Given the description of an element on the screen output the (x, y) to click on. 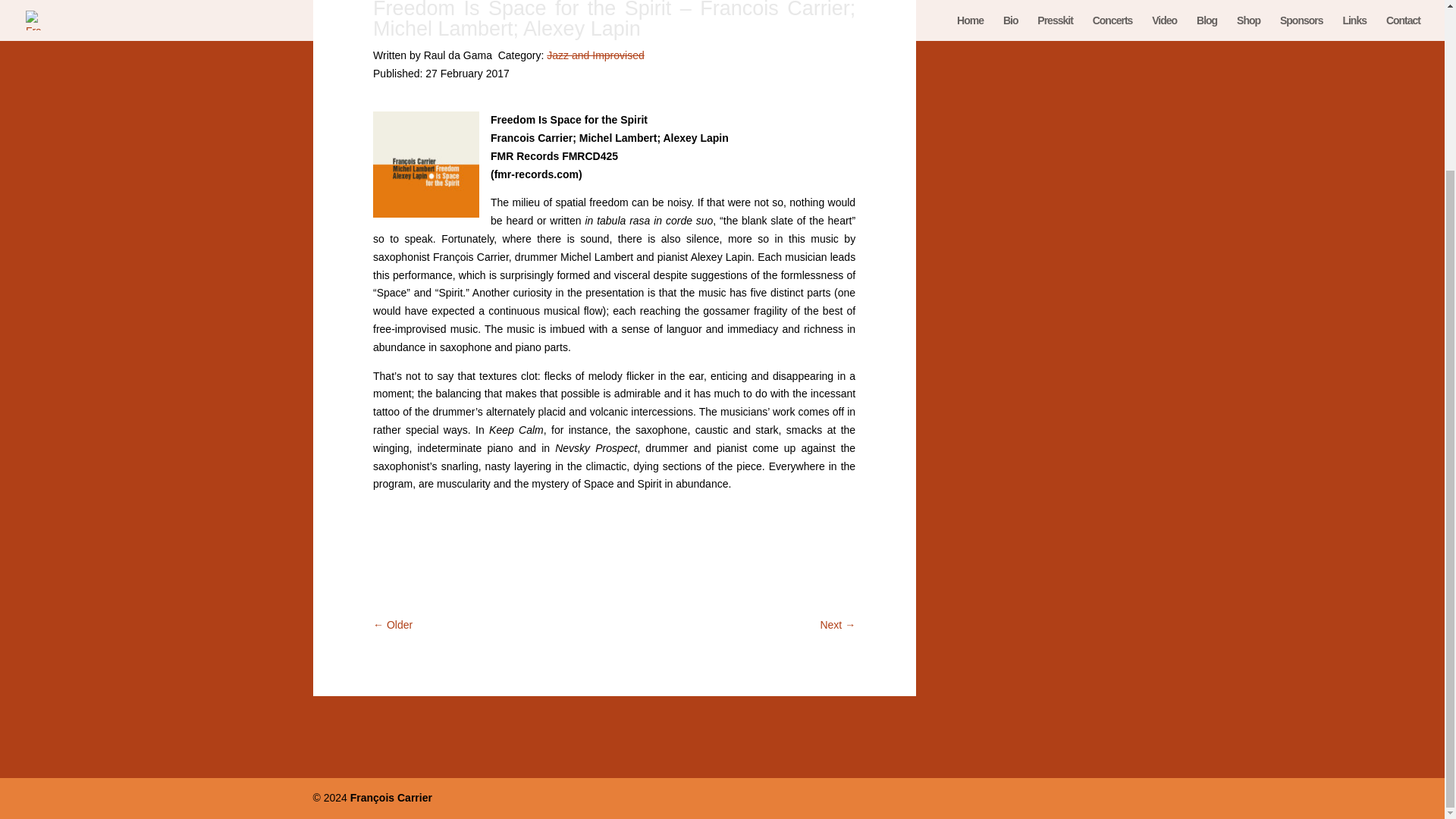
Jazz and Improvised (595, 55)
